Given the description of an element on the screen output the (x, y) to click on. 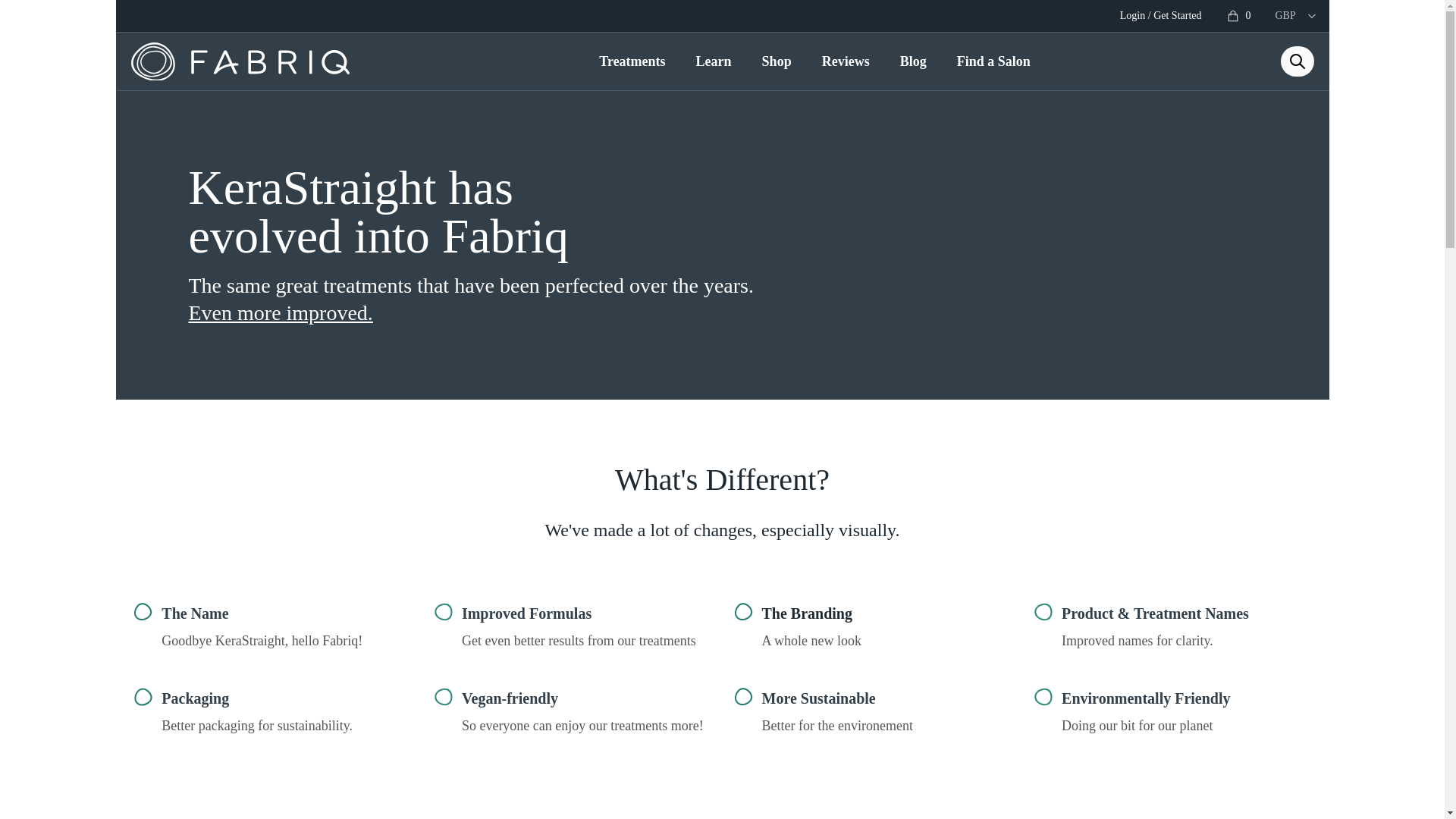
Shop (776, 61)
0 (1237, 15)
Learn (713, 61)
Treatments (631, 61)
